Given the description of an element on the screen output the (x, y) to click on. 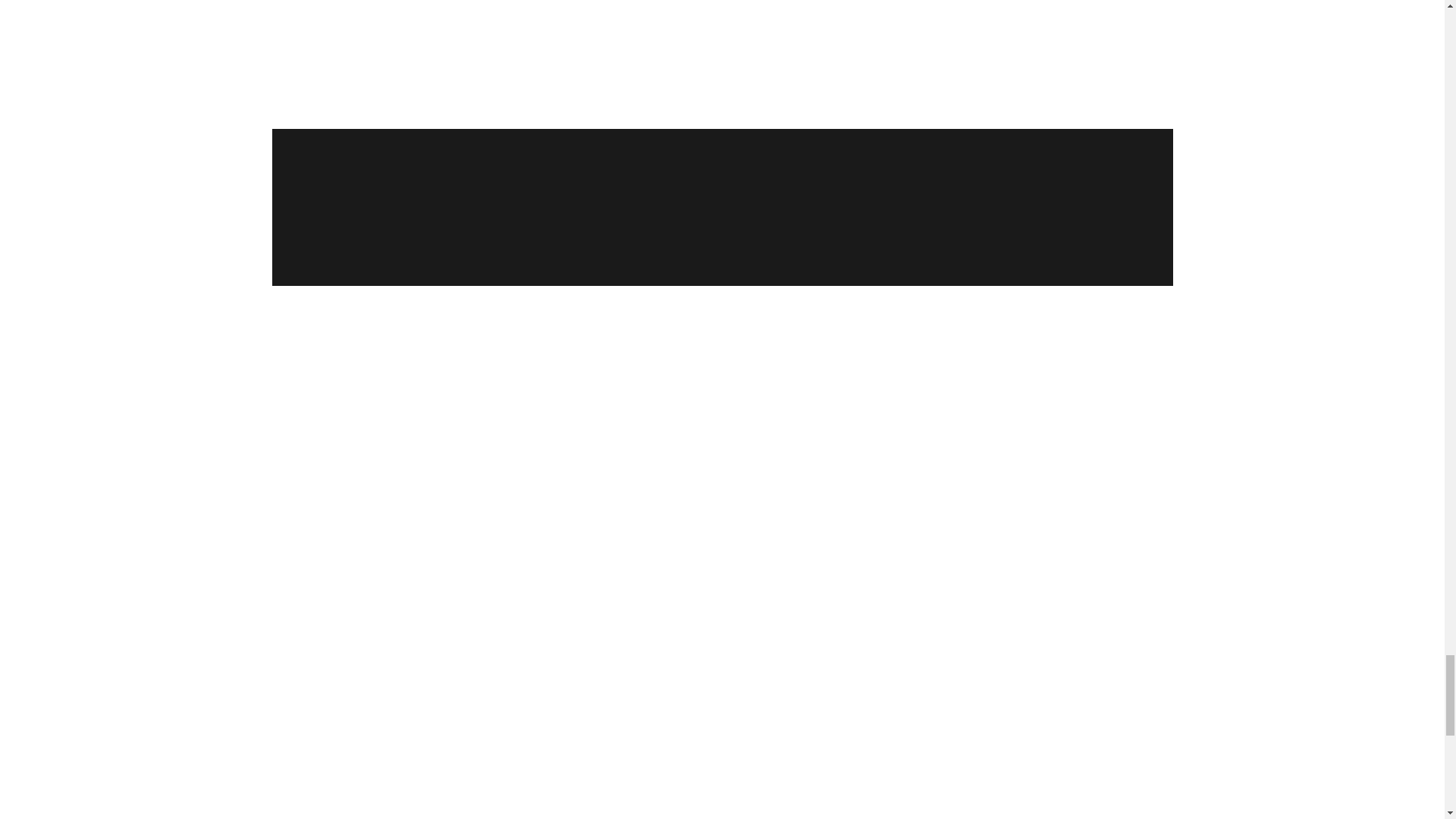
The women behind Urban Closets. Katie the lead des (1049, 25)
With over 200 colour choices from our great suppli (844, 25)
Urban Closets was a proud sponsor and head coach o (844, 156)
